Given the description of an element on the screen output the (x, y) to click on. 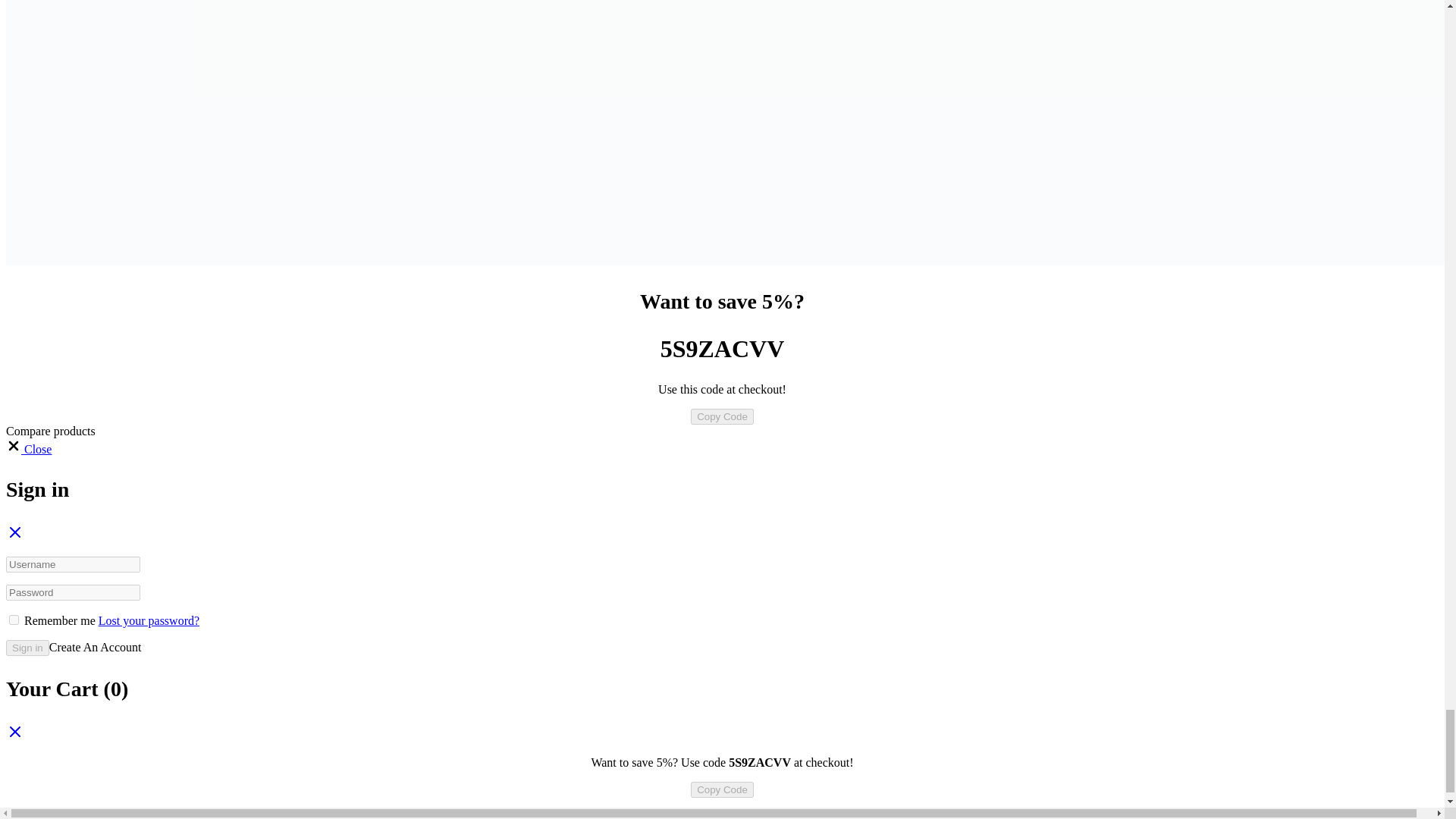
Copy Code (722, 416)
forever (13, 619)
Close (27, 449)
